Given the description of an element on the screen output the (x, y) to click on. 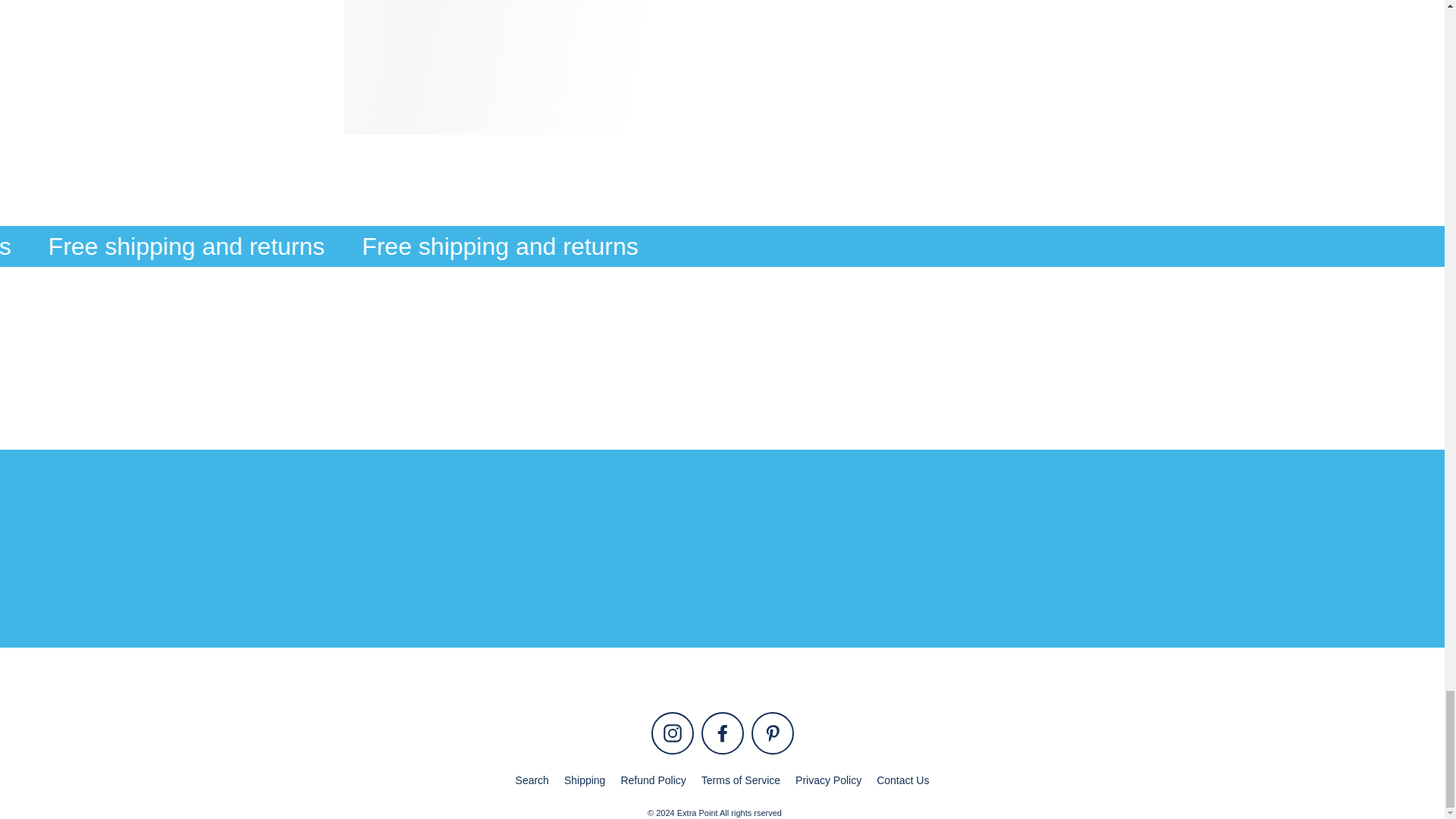
Extra Point on Pinterest (772, 732)
Extra Point on Facebook (721, 732)
Extra Point on Instagram (671, 732)
